Given the description of an element on the screen output the (x, y) to click on. 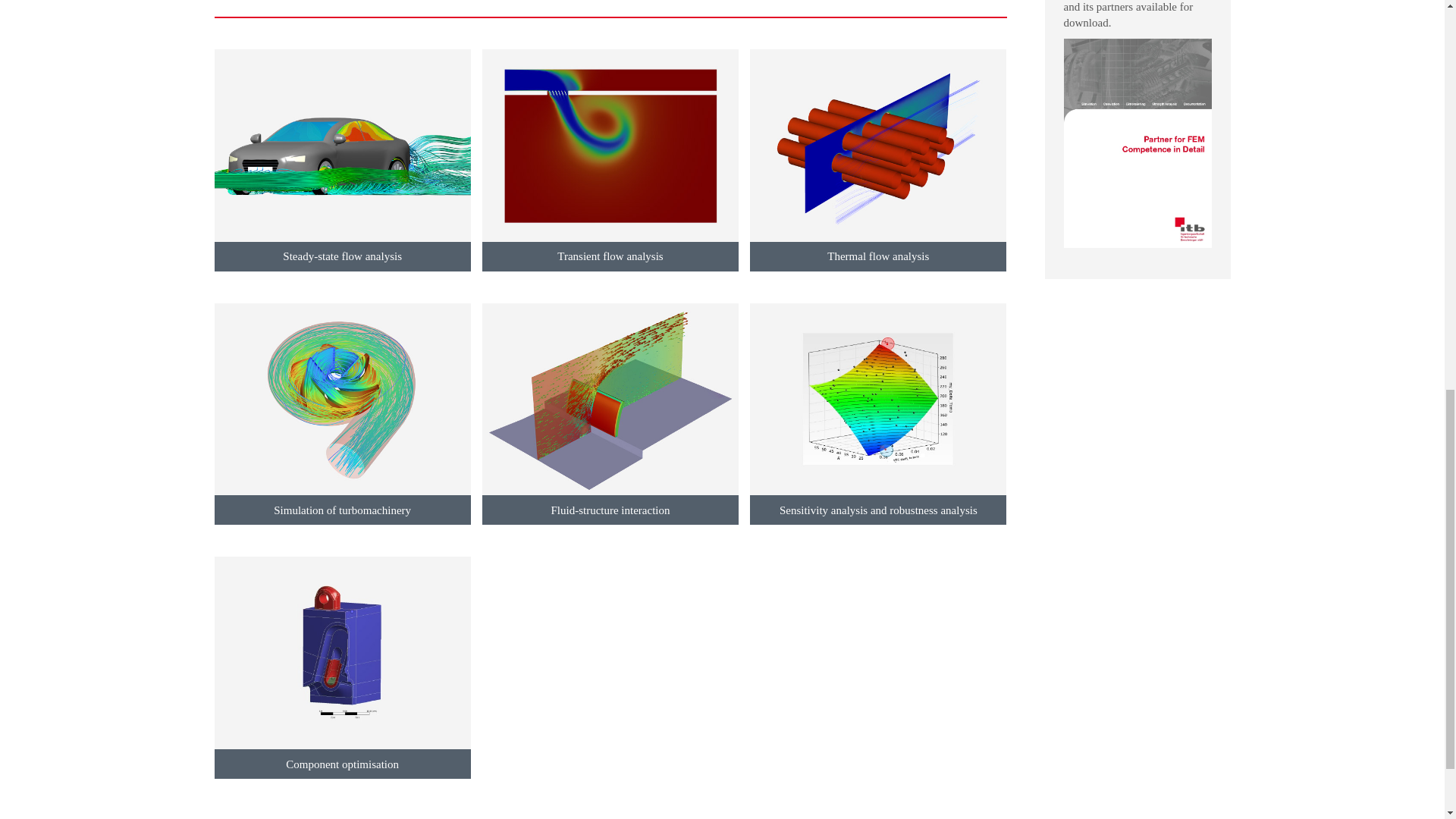
Steady-state flow analysis (342, 160)
Transient flow analyis (609, 160)
Component optimisation (342, 667)
Thermal flow analysis (877, 160)
Fluid-structure interaction (609, 414)
Rotating machines (342, 414)
Sensitivity analysis and robustness analysis (877, 414)
